Given the description of an element on the screen output the (x, y) to click on. 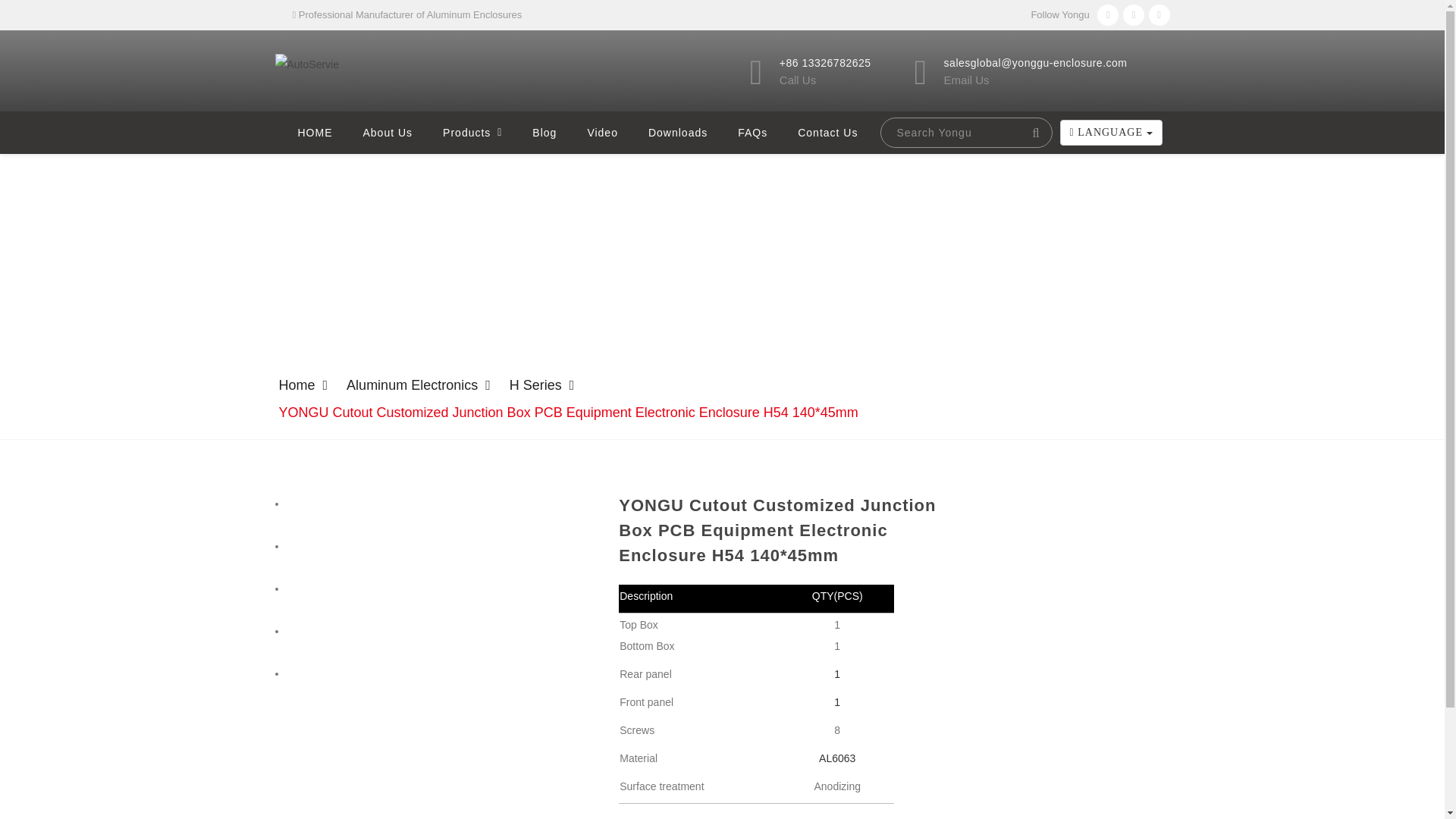
About Us (387, 132)
CarBest (306, 63)
Products (472, 132)
Downloads (677, 132)
